Given the description of an element on the screen output the (x, y) to click on. 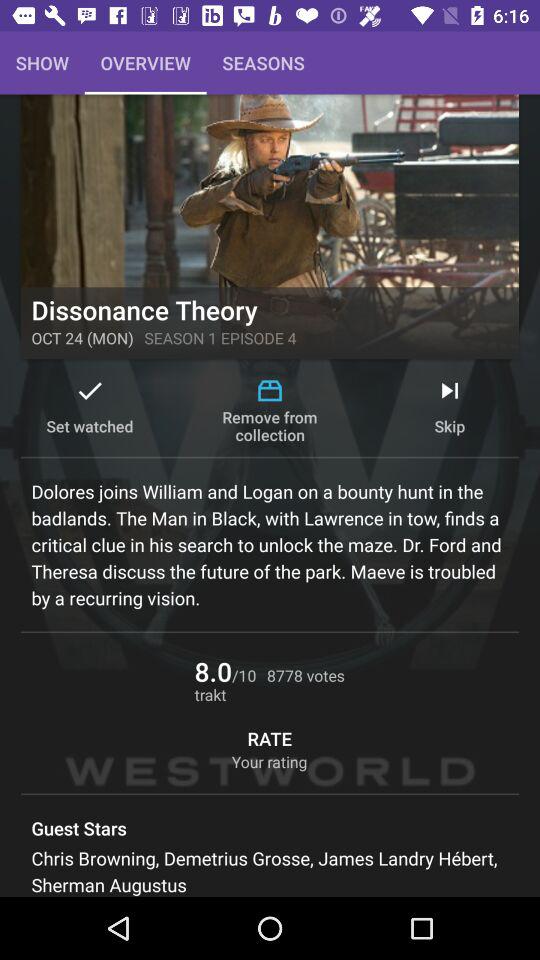
tap dolores joins william (269, 544)
